Given the description of an element on the screen output the (x, y) to click on. 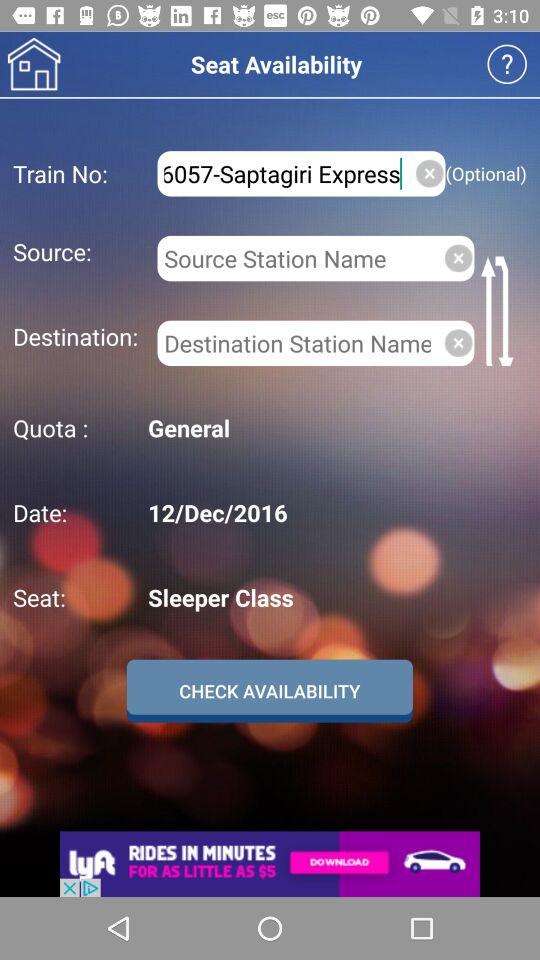
launch icon to the right of quota : item (333, 427)
